Given the description of an element on the screen output the (x, y) to click on. 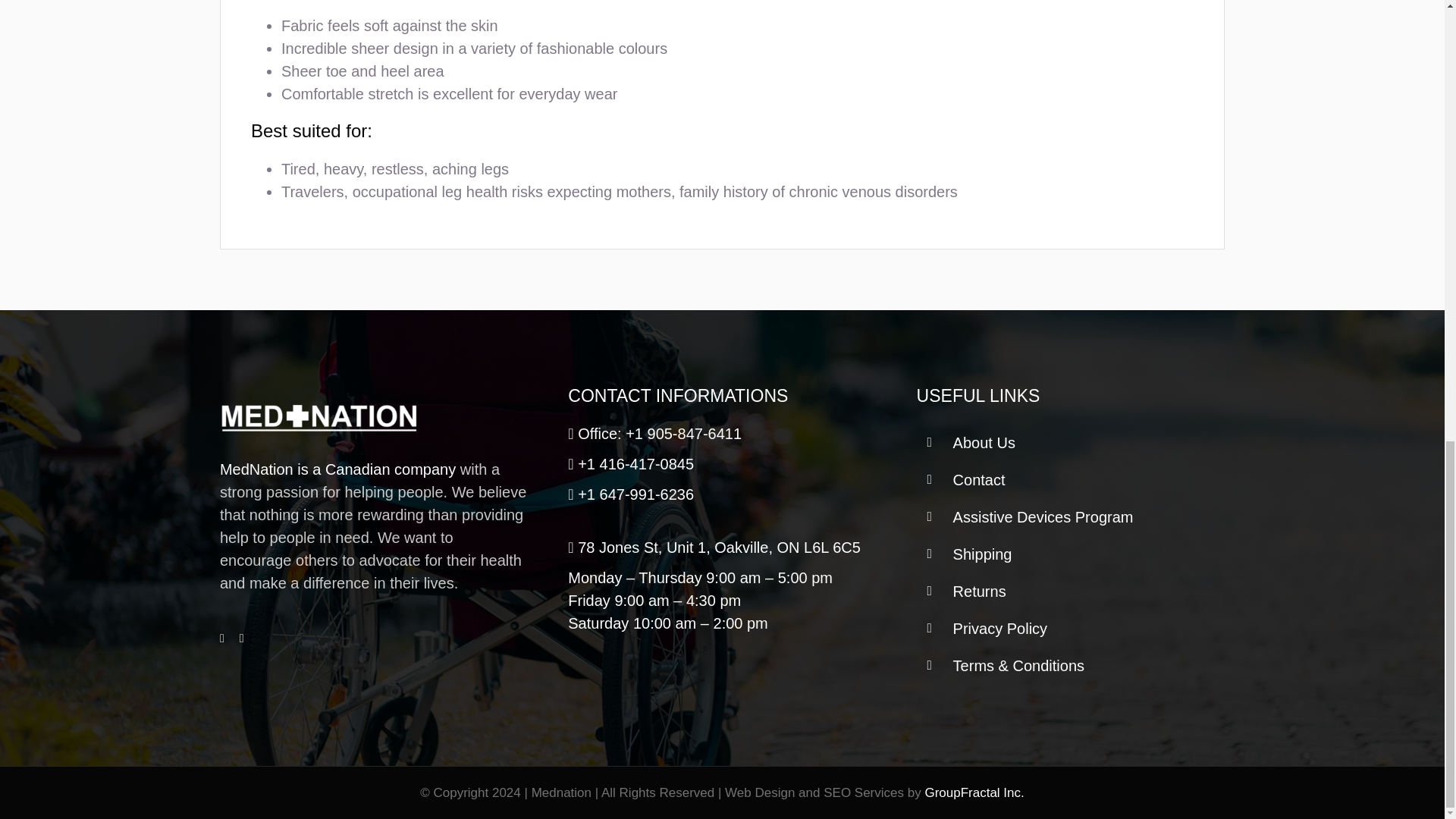
white-logo (318, 415)
